Given the description of an element on the screen output the (x, y) to click on. 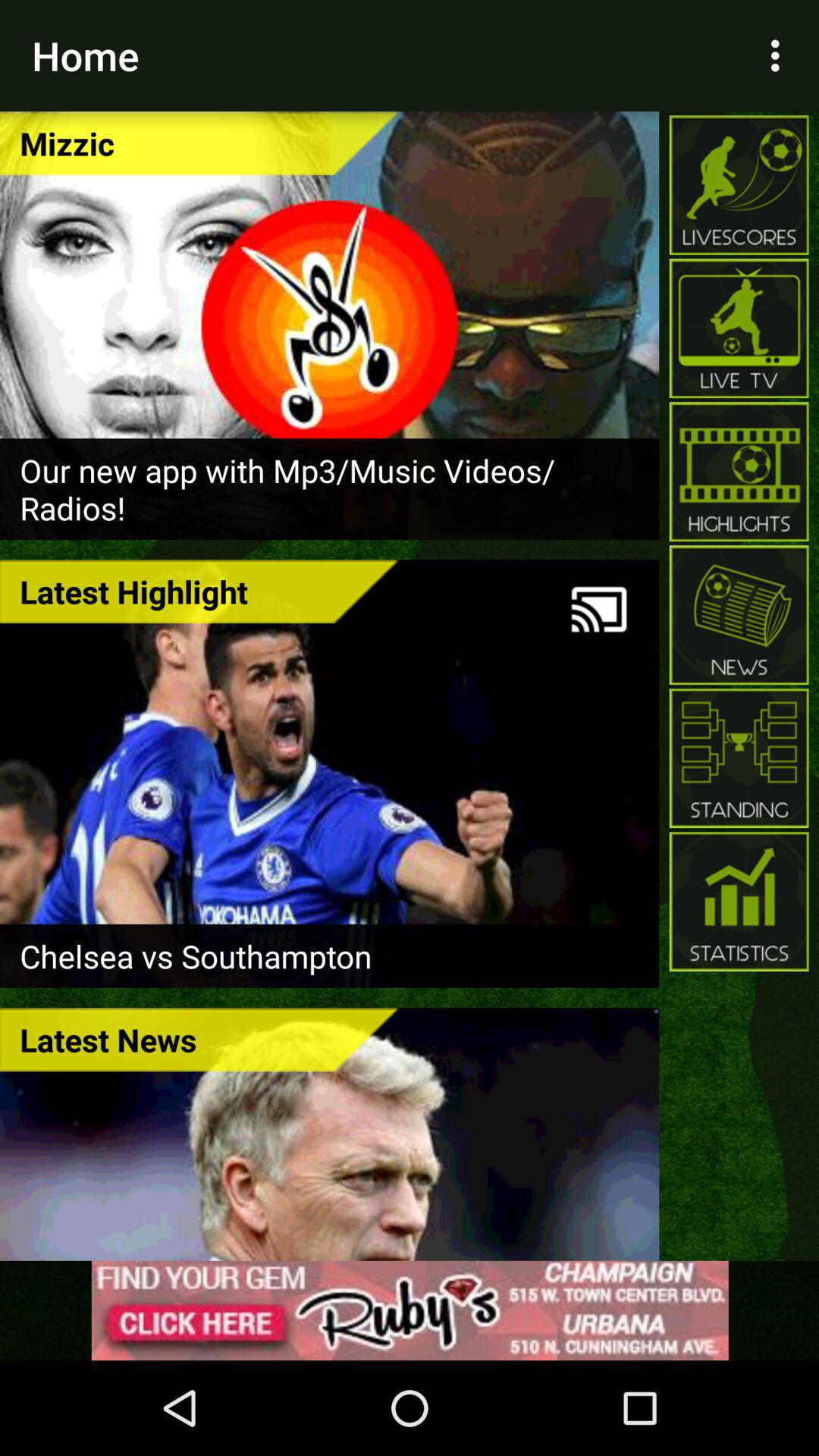
jump until the our new app icon (329, 488)
